Given the description of an element on the screen output the (x, y) to click on. 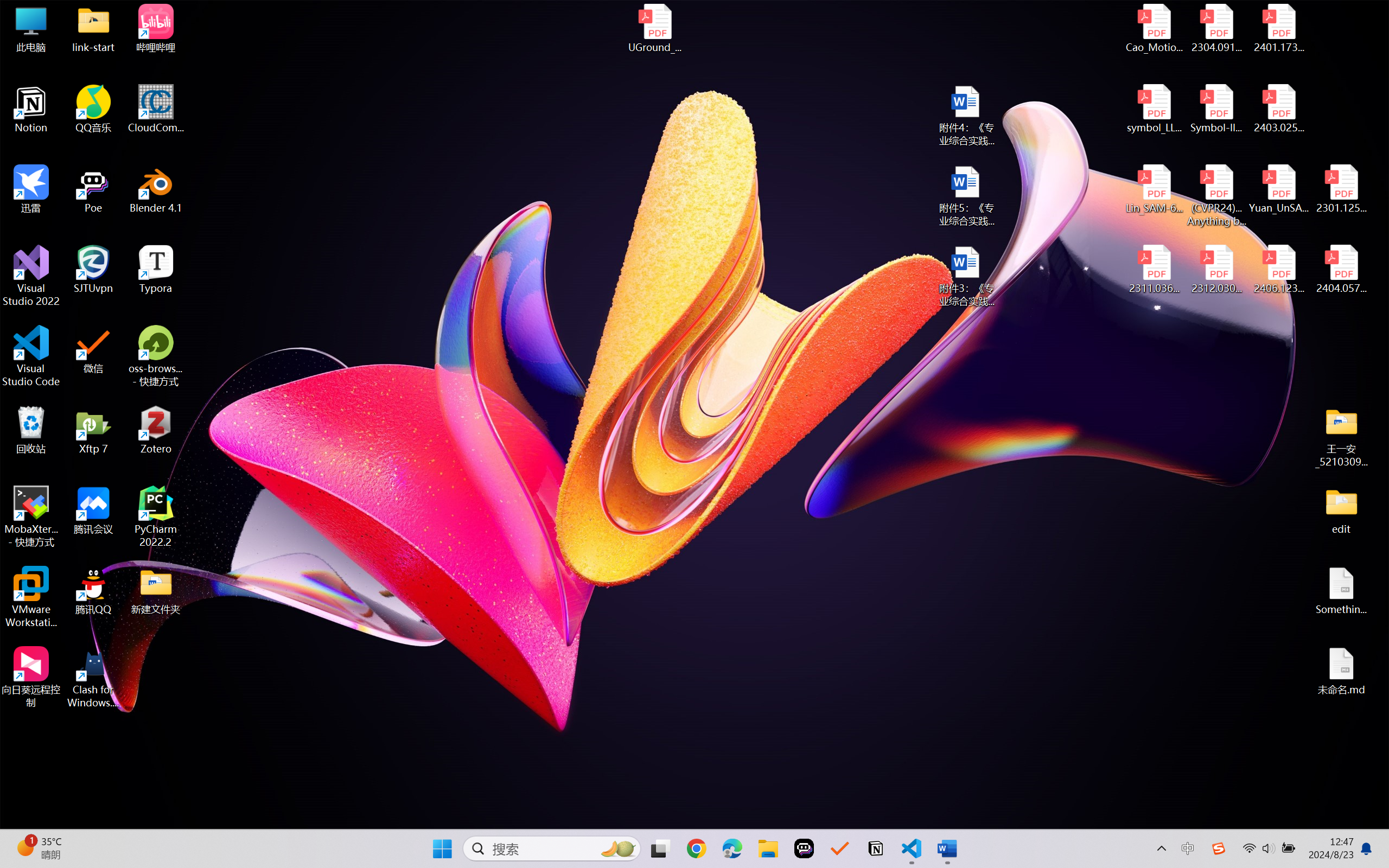
edit (1340, 510)
2301.12597v3.pdf (1340, 189)
symbol_LLM.pdf (1154, 109)
Something.md (1340, 591)
2312.03032v2.pdf (1216, 269)
